Given the description of an element on the screen output the (x, y) to click on. 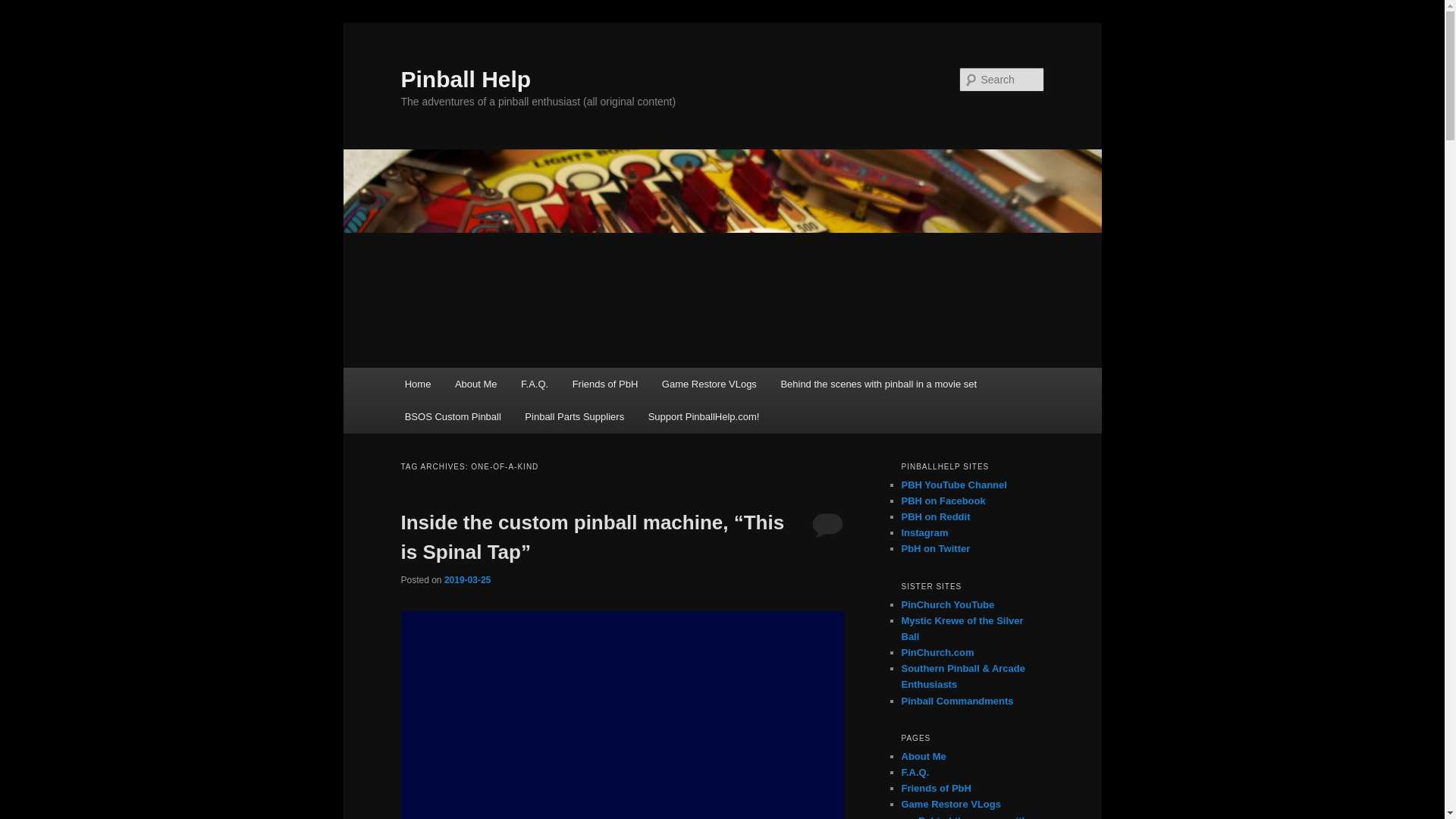
Instagram (924, 532)
PinChurch YouTube (947, 604)
Game Restore VLogs (708, 383)
Friends of PbH (936, 787)
Pinball Commandments (957, 700)
BSOS Custom Pinball (453, 416)
Behind the scenes with pinball in a movie set (972, 816)
Behind the scenes with pinball in a movie set (878, 383)
PBH YouTube Channel (953, 484)
F.A.Q. (914, 772)
PBH on Reddit (935, 516)
Support PinballHelp.com! (703, 416)
Advertisement (621, 714)
Pinball Help (465, 78)
